Given the description of an element on the screen output the (x, y) to click on. 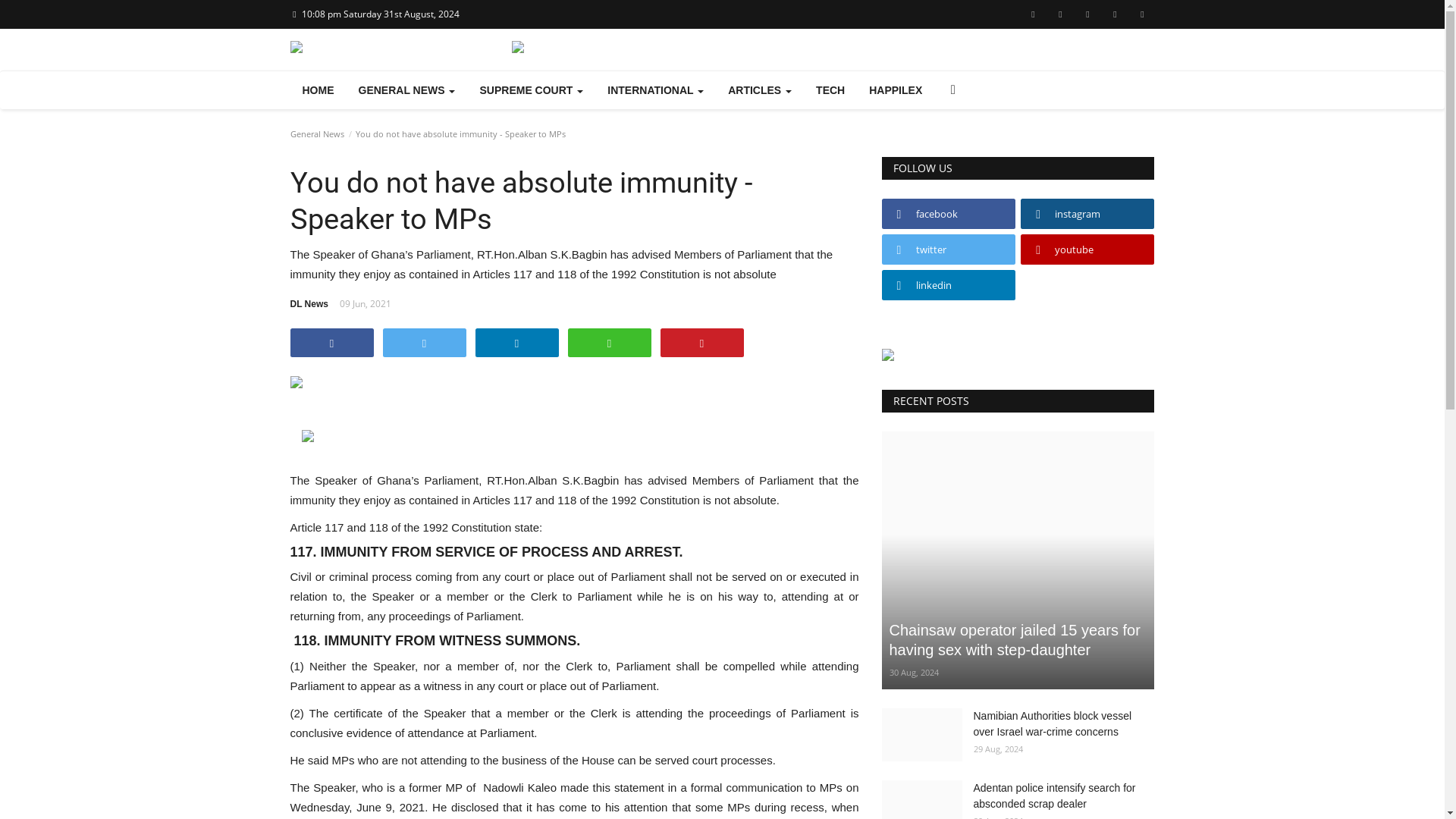
HOME (317, 89)
ARTICLES (759, 89)
HAPPILEX (895, 89)
INTERNATIONAL (655, 89)
TECH (830, 89)
SUPREME COURT (531, 89)
GENERAL NEWS (406, 89)
